Given the description of an element on the screen output the (x, y) to click on. 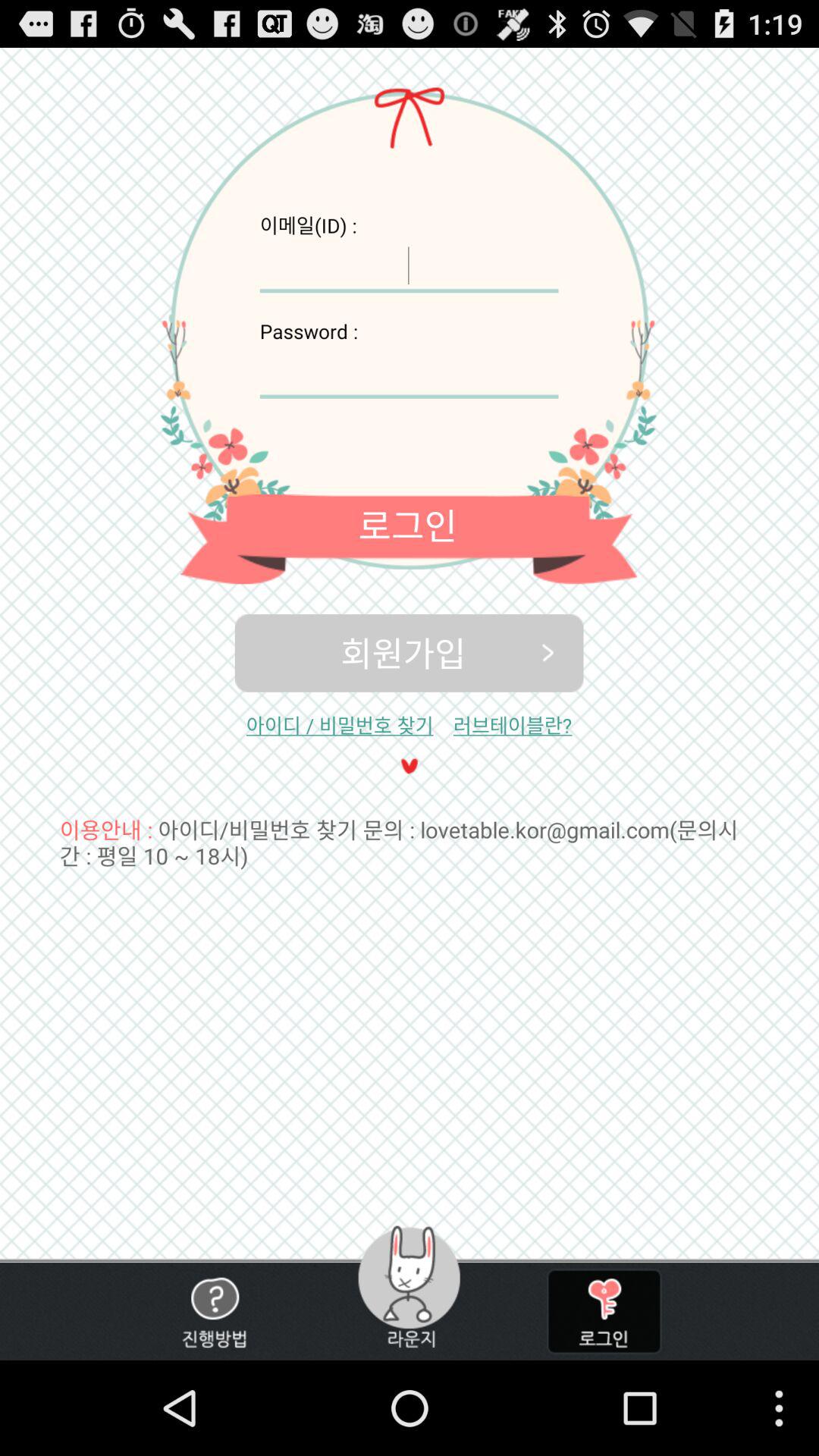
opens help (213, 1311)
